Given the description of an element on the screen output the (x, y) to click on. 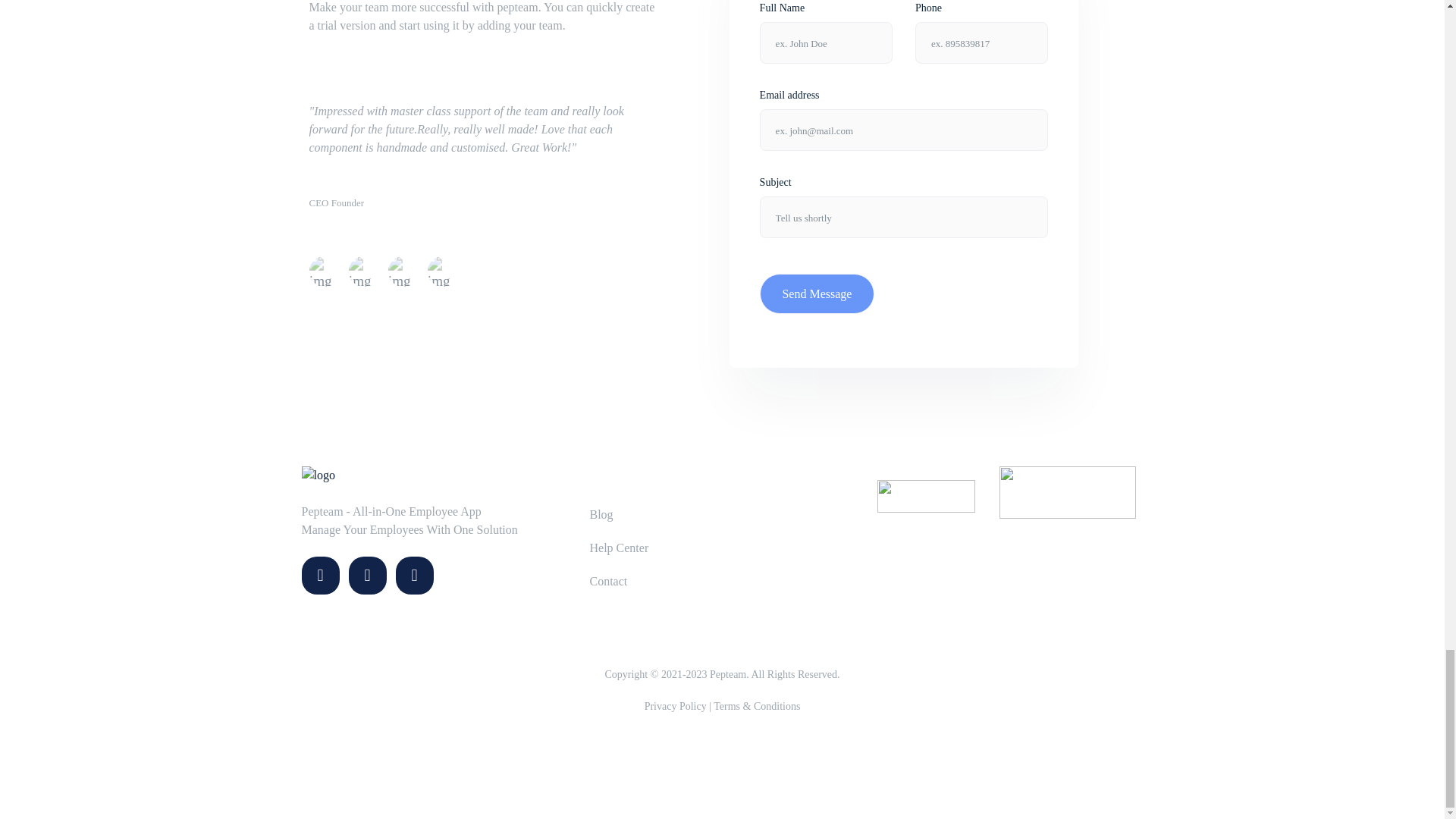
Send Message (817, 293)
